Given the description of an element on the screen output the (x, y) to click on. 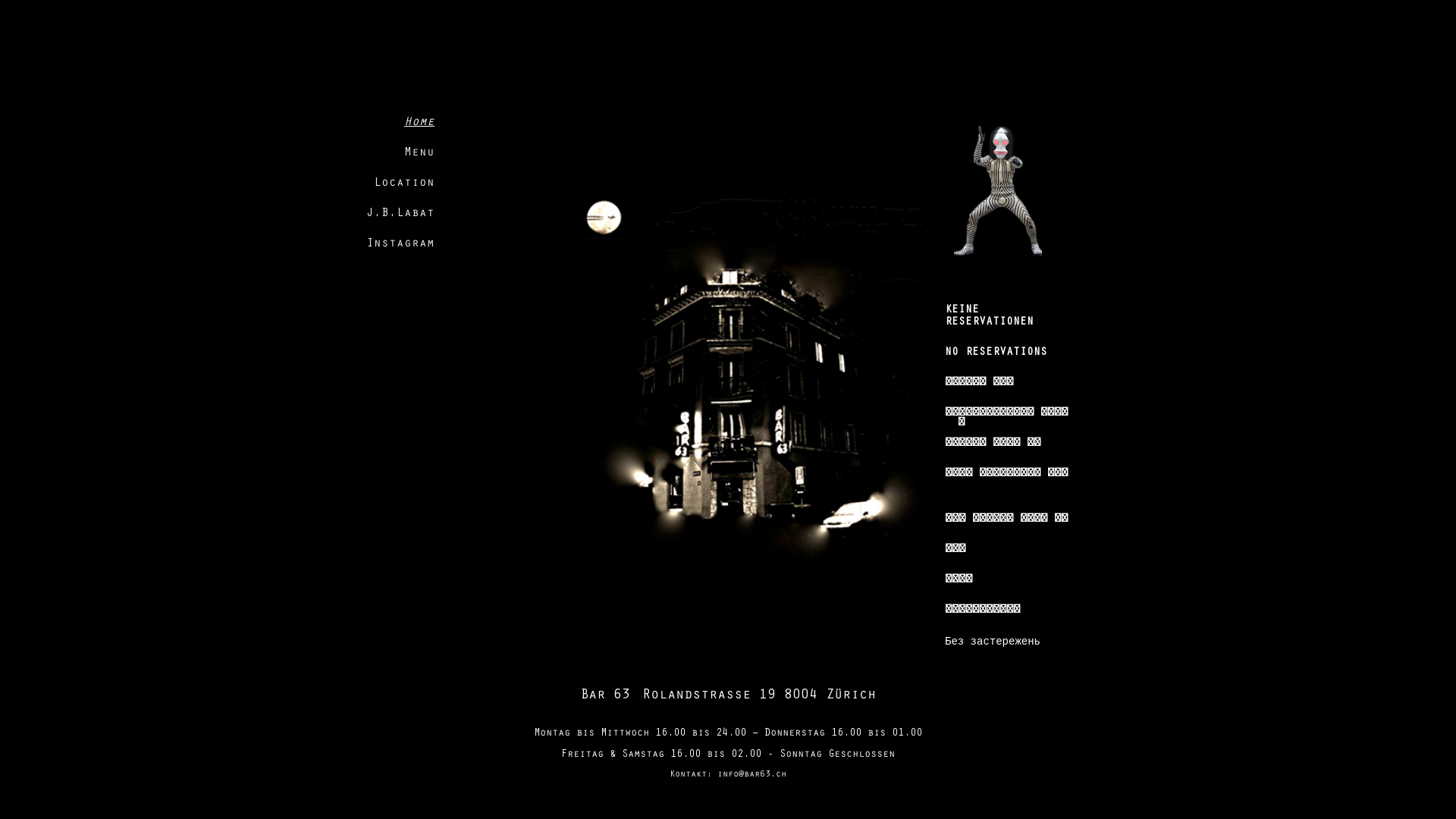
Instagram Element type: text (400, 244)
J.B.Labat Element type: text (400, 213)
Menu Element type: text (419, 153)
Home Element type: text (419, 122)
Location Element type: text (403, 183)
